Given the description of an element on the screen output the (x, y) to click on. 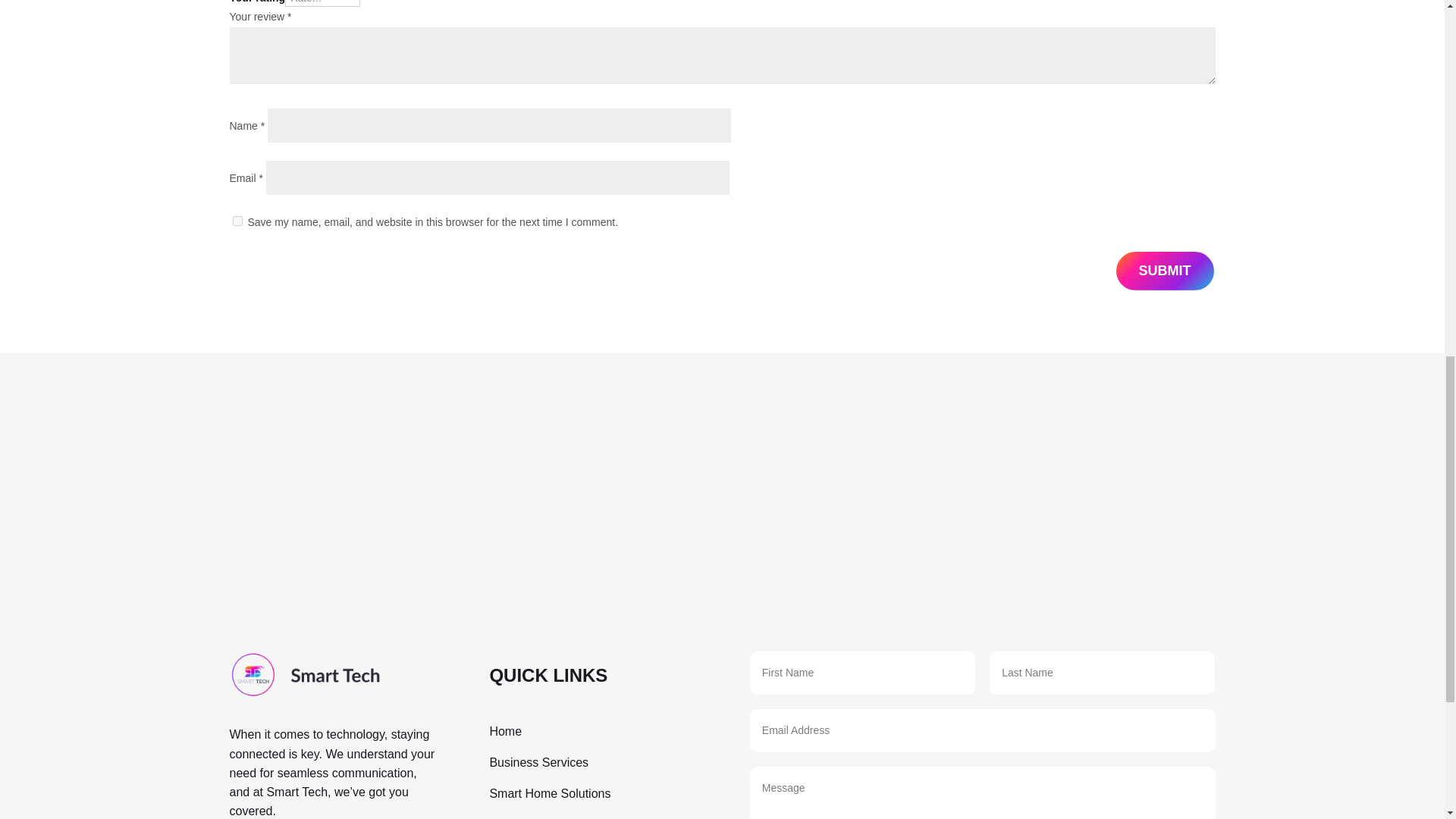
Business Services (538, 762)
yes (236, 221)
SUBMIT (1165, 270)
footer-logo (304, 674)
Smart Home Solutions (549, 793)
Home (505, 730)
